Given the description of an element on the screen output the (x, y) to click on. 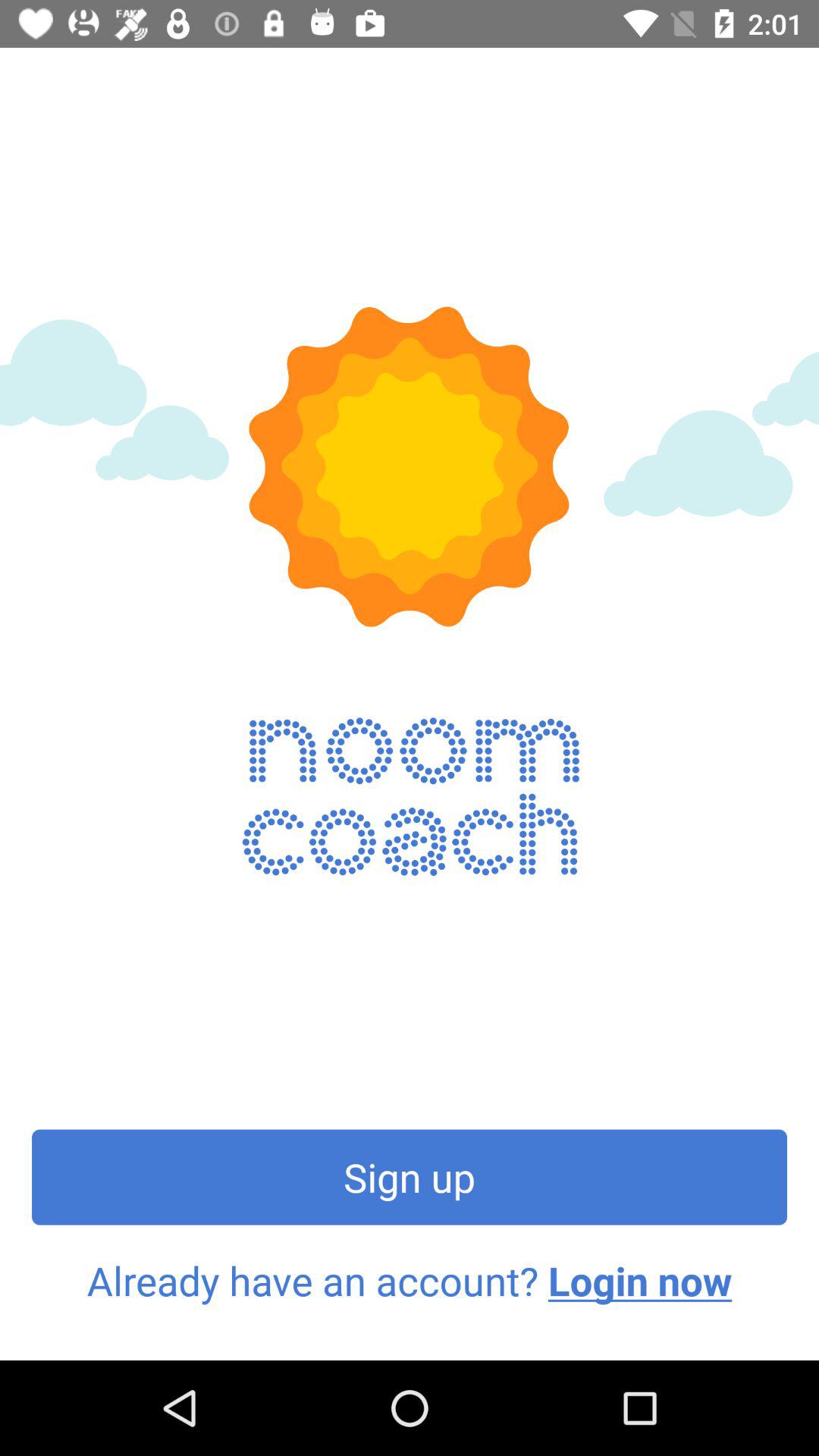
tap sign up (409, 1177)
